Given the description of an element on the screen output the (x, y) to click on. 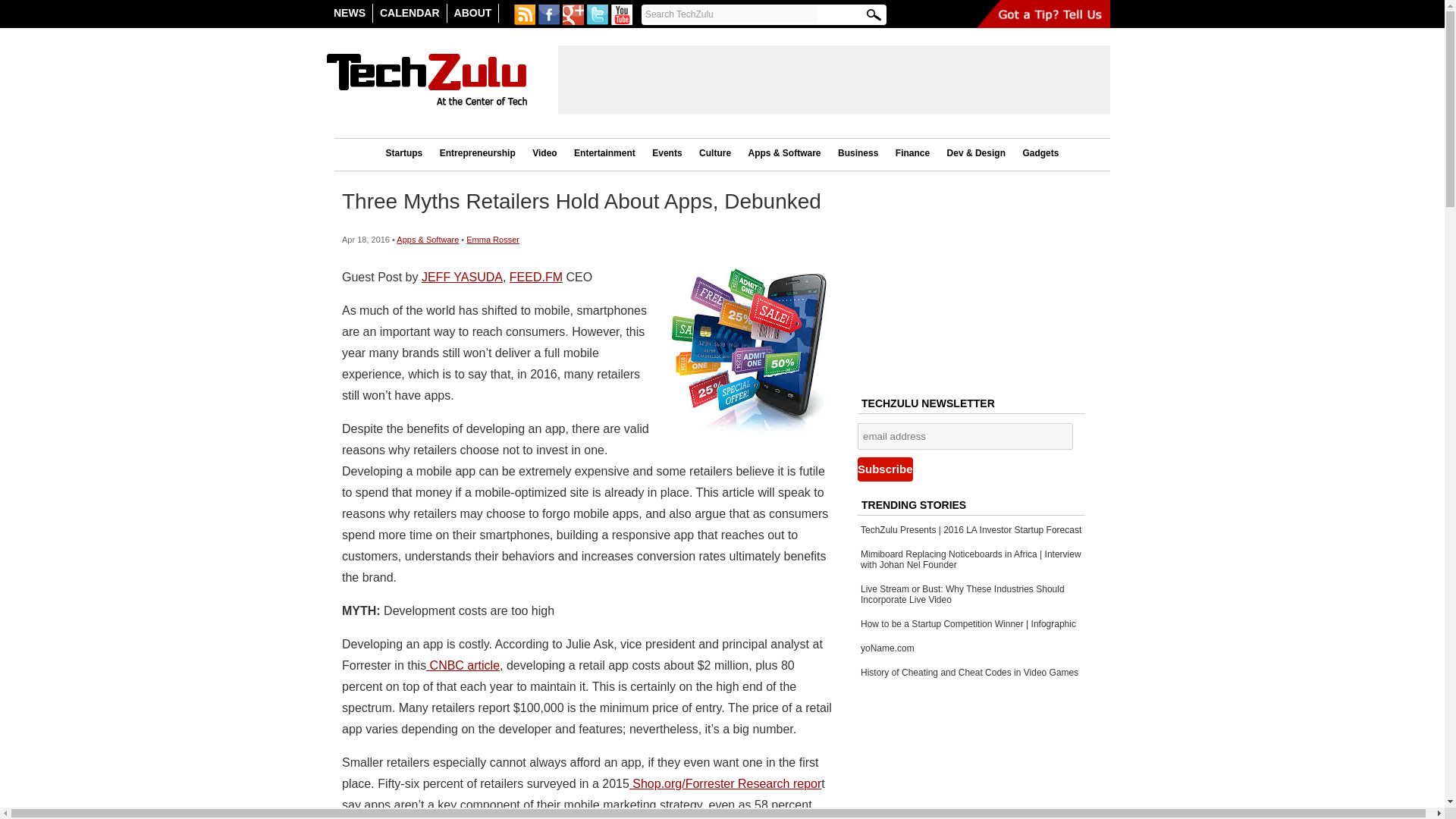
Entertainment (604, 152)
Advertisement (972, 283)
yoName.com (887, 647)
Events (666, 152)
NEWS (349, 13)
ABOUT (472, 13)
Emma Rosser (492, 239)
History of Cheating and Cheat Codes in Video Games (969, 672)
CALENDAR (409, 13)
FEED.FM (535, 277)
CNBC article (462, 665)
Gadgets (1039, 152)
Three Myths Retailers Hold About Apps, Debunked (581, 200)
Entrepreneurship (477, 152)
submit (873, 14)
